Given the description of an element on the screen output the (x, y) to click on. 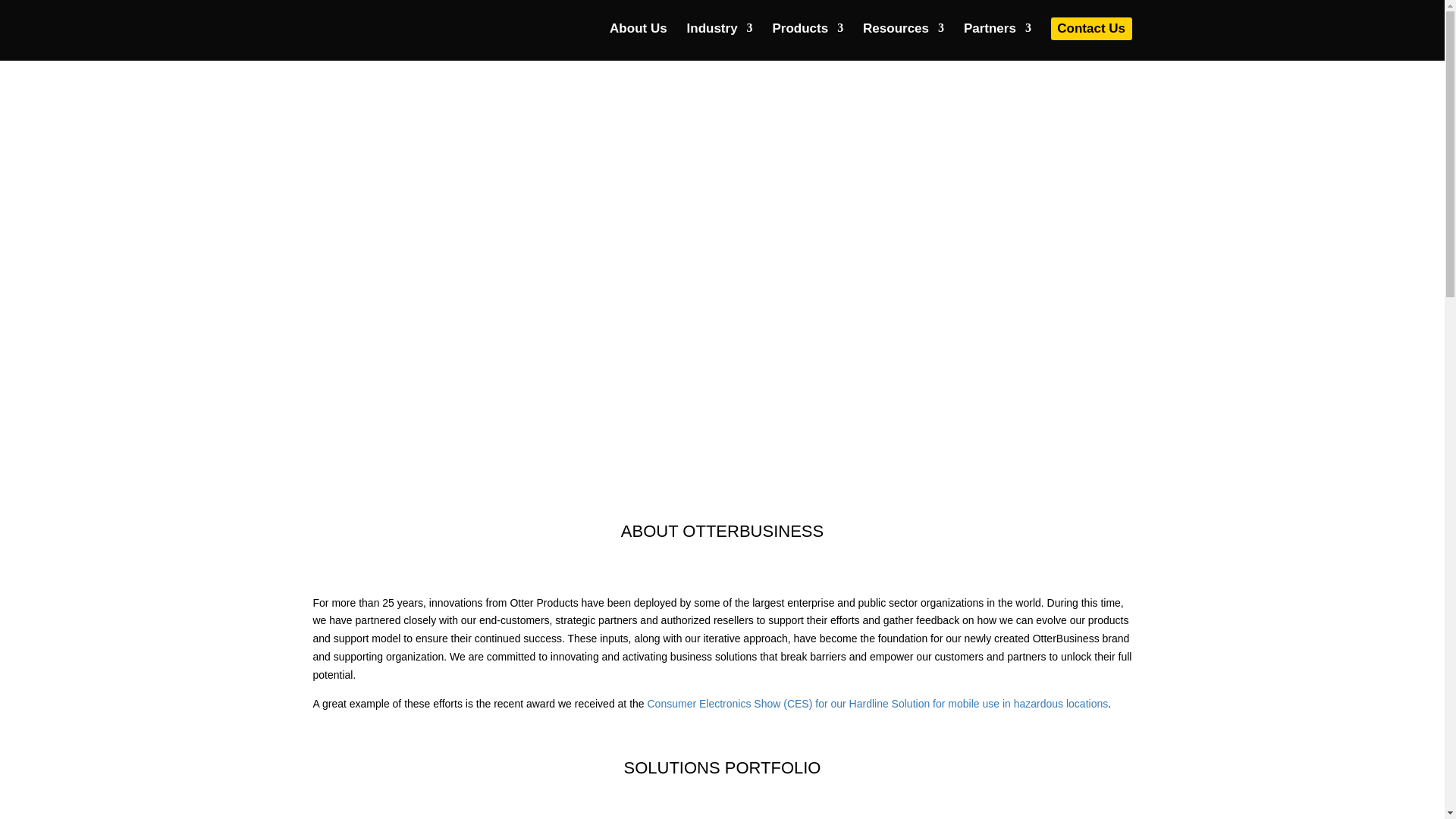
About Us (638, 36)
Industry (719, 36)
Resources (903, 36)
Products (807, 36)
Contact Us (1091, 28)
Partners (996, 36)
